Given the description of an element on the screen output the (x, y) to click on. 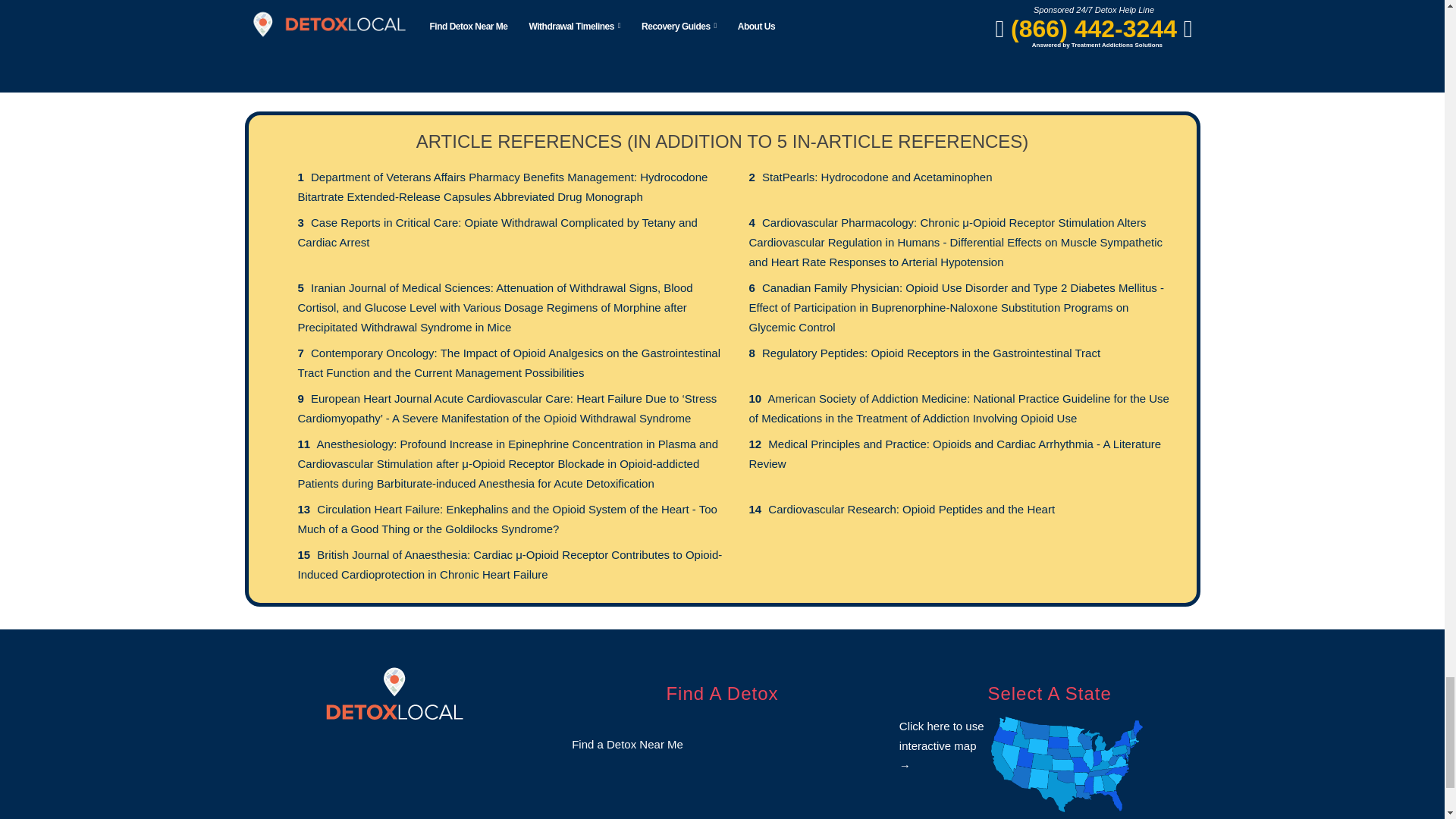
StatPearls: Hydrocodone and Acetaminophen (876, 176)
Vicodin (1090, 8)
Suboxone (599, 8)
Oxycodone (353, 8)
Tramadol (845, 8)
